Given the description of an element on the screen output the (x, y) to click on. 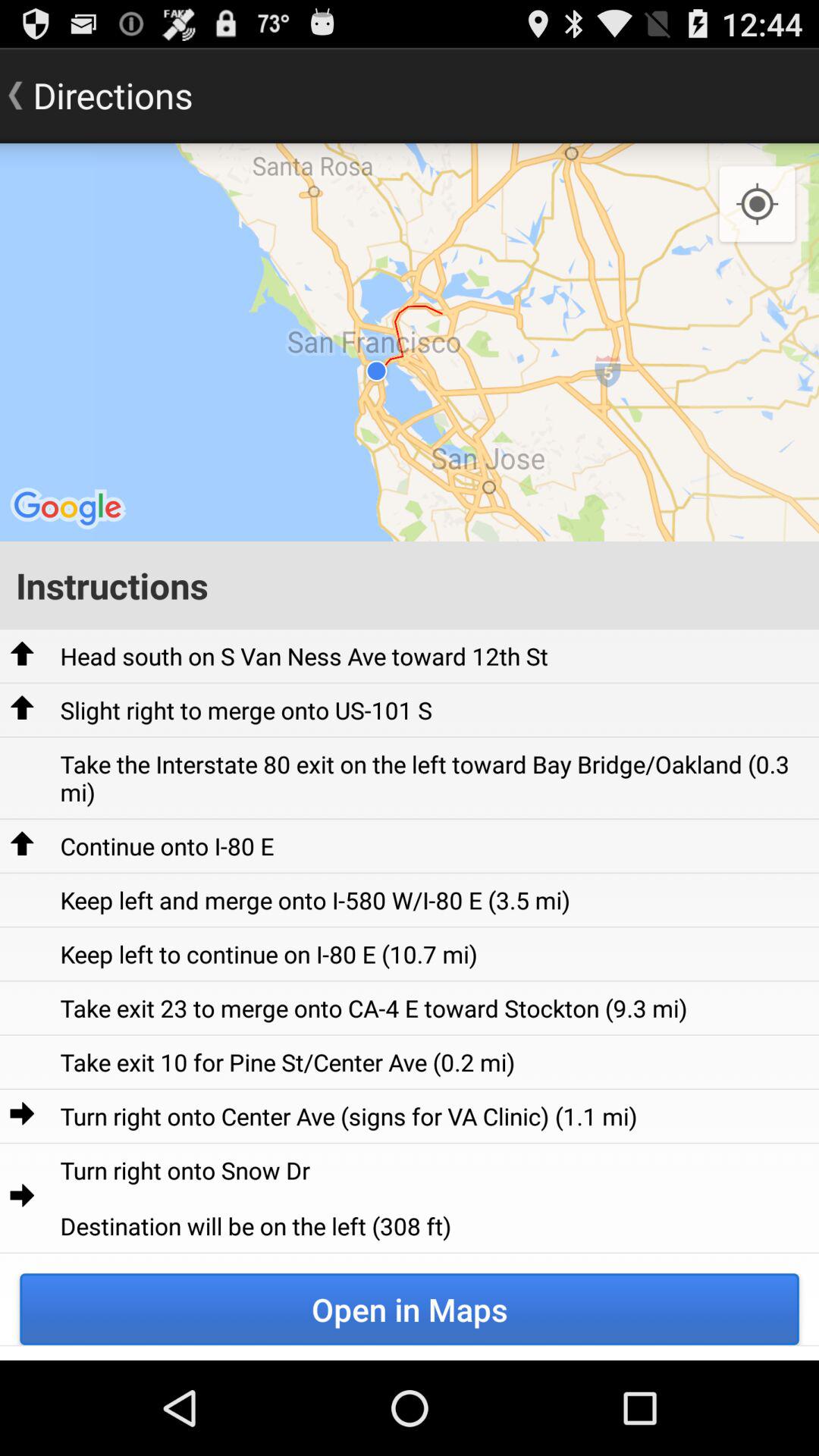
turn on the icon above the instructions (409, 342)
